Given the description of an element on the screen output the (x, y) to click on. 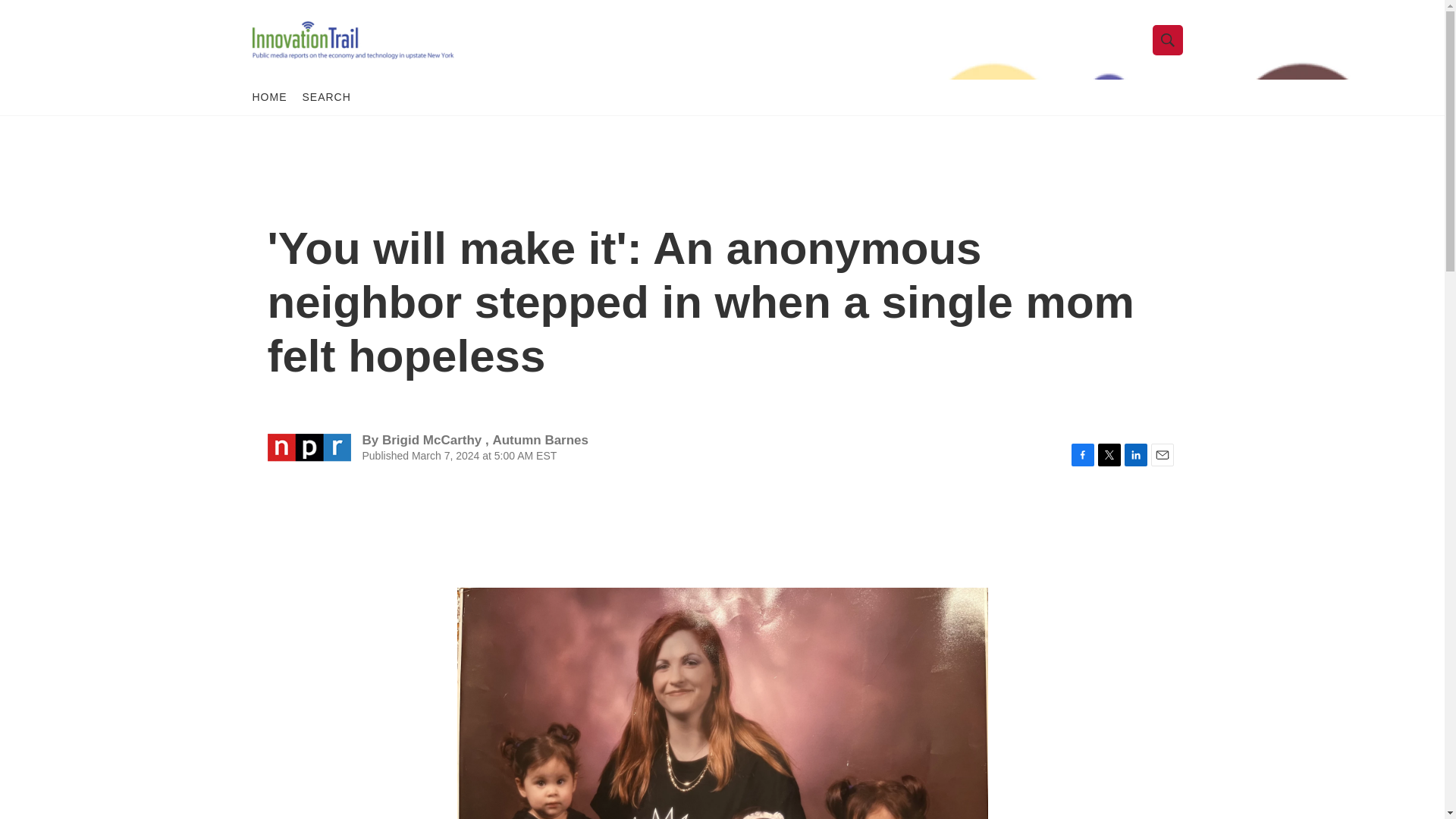
LinkedIn (1135, 454)
Email (1162, 454)
Show Search (1167, 39)
Twitter (1109, 454)
SEARCH (325, 97)
Facebook (1081, 454)
HOME (268, 97)
